Given the description of an element on the screen output the (x, y) to click on. 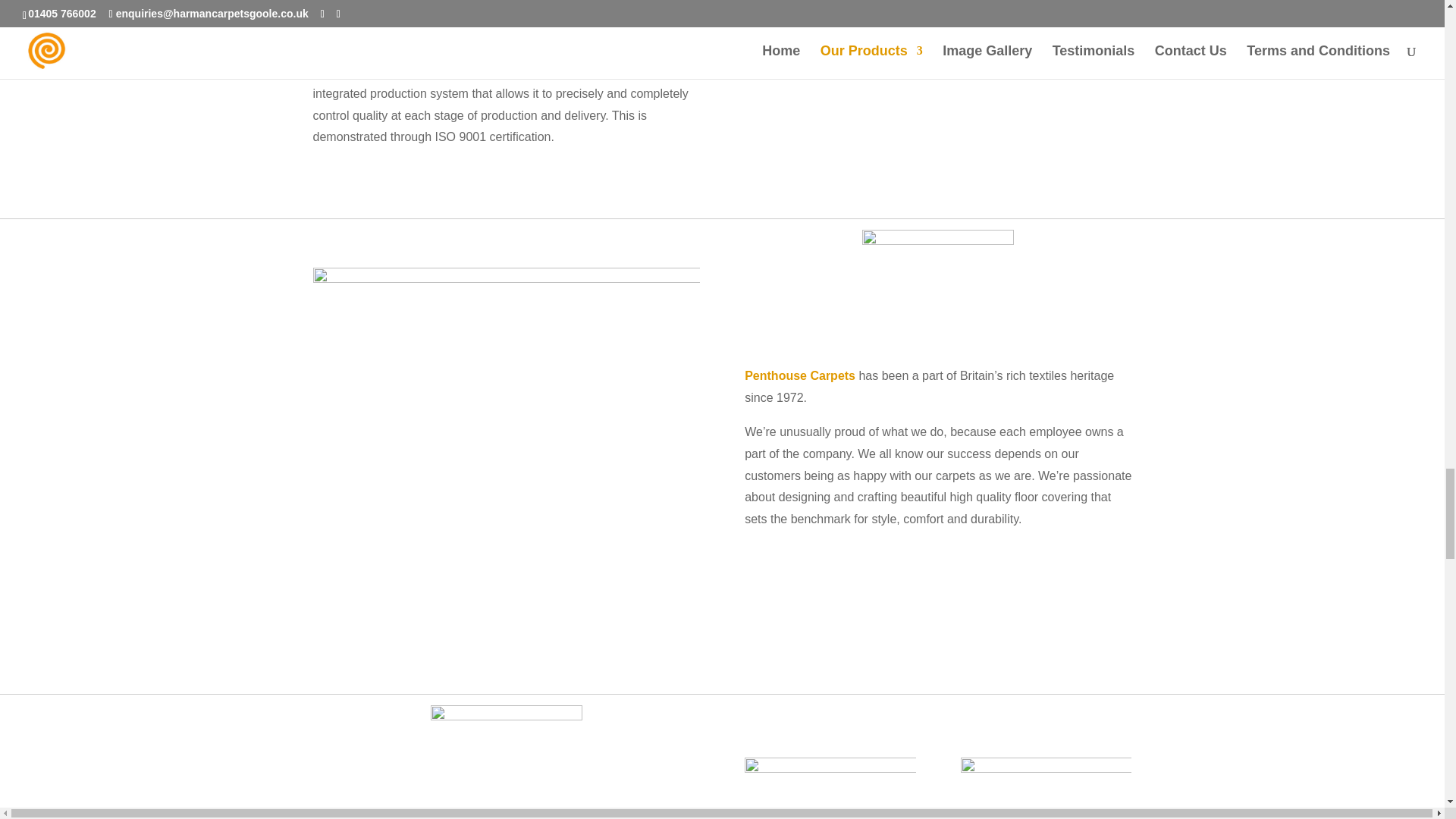
Lano serenade (937, 89)
Penthouse Logo 200x150 (937, 286)
Riviera Logo 200x150 (506, 762)
Penthouse Carpets (800, 375)
